Given the description of an element on the screen output the (x, y) to click on. 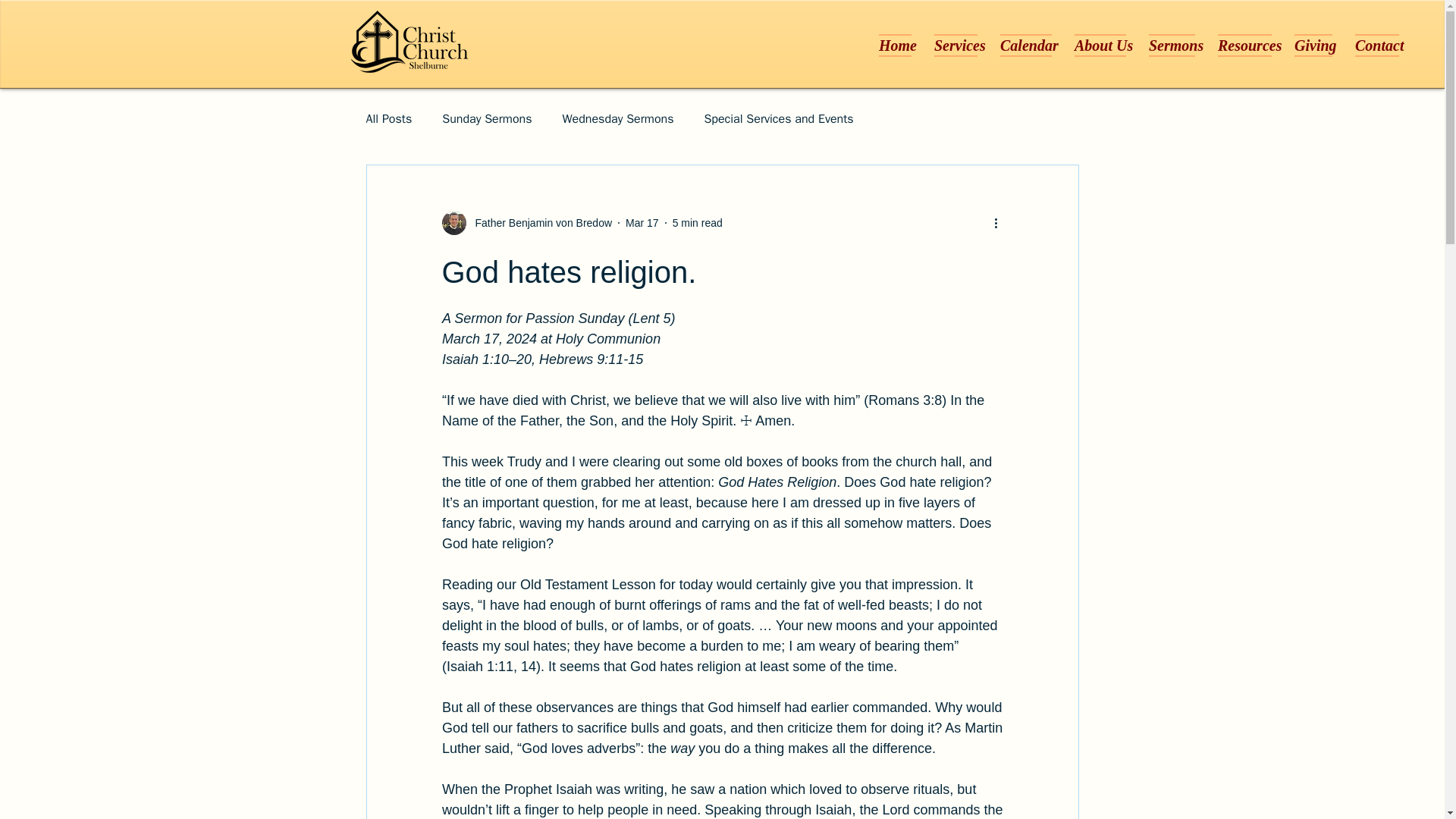
Contact (1371, 45)
Calendar (1025, 45)
Sermons (1172, 45)
5 min read (697, 223)
Giving (1312, 45)
Mar 17 (642, 223)
Home (895, 45)
Father Benjamin von Bredow (538, 222)
Sunday Sermons (486, 118)
Wednesday Sermons (617, 118)
